Given the description of an element on the screen output the (x, y) to click on. 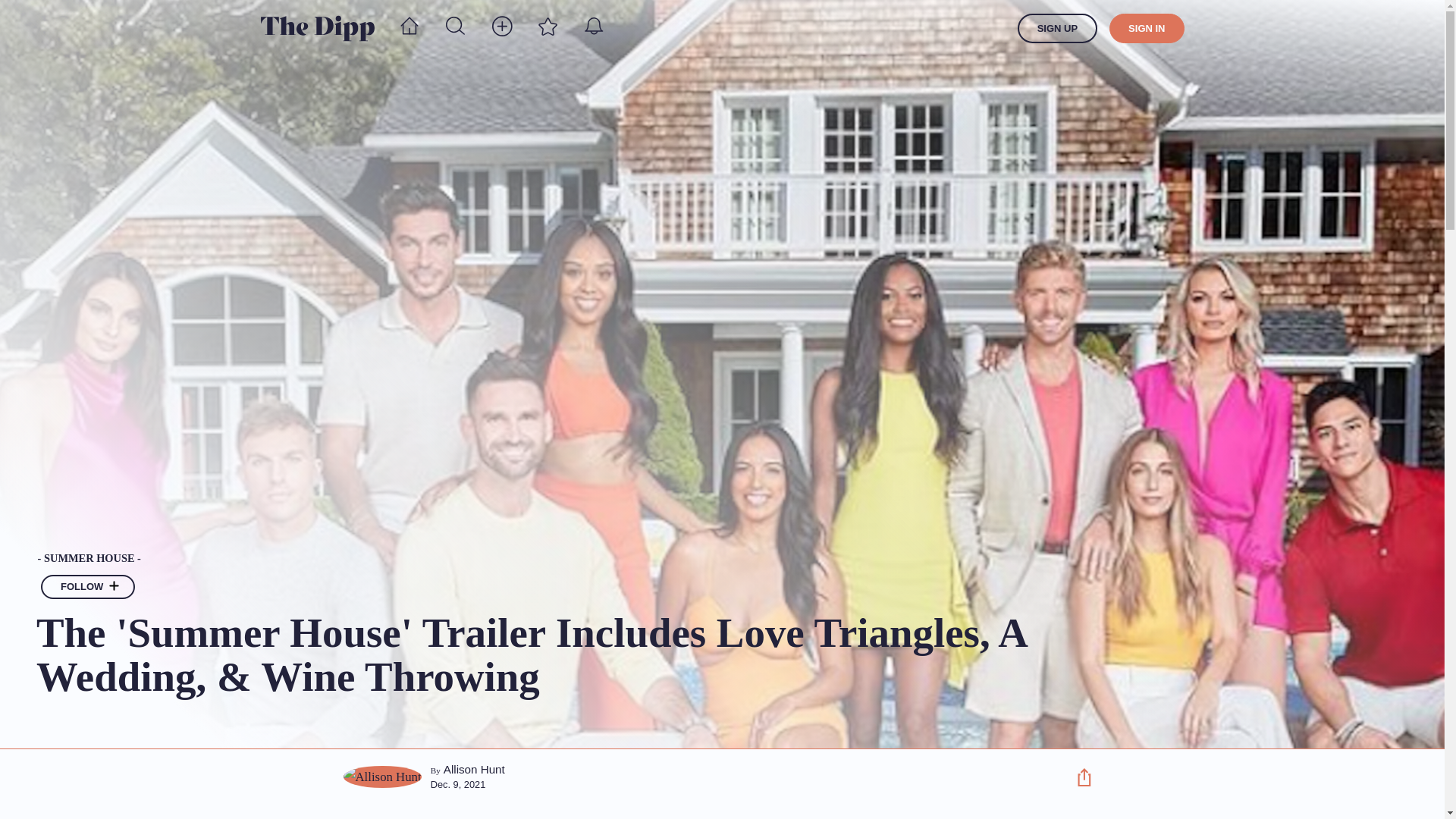
- SUMMER HOUSE - (542, 559)
Dipp (317, 28)
FOLLOW (87, 586)
Follow (114, 587)
SIGN UP (1057, 28)
Allison Hunt (474, 768)
SIGN IN (1146, 28)
